Given the description of an element on the screen output the (x, y) to click on. 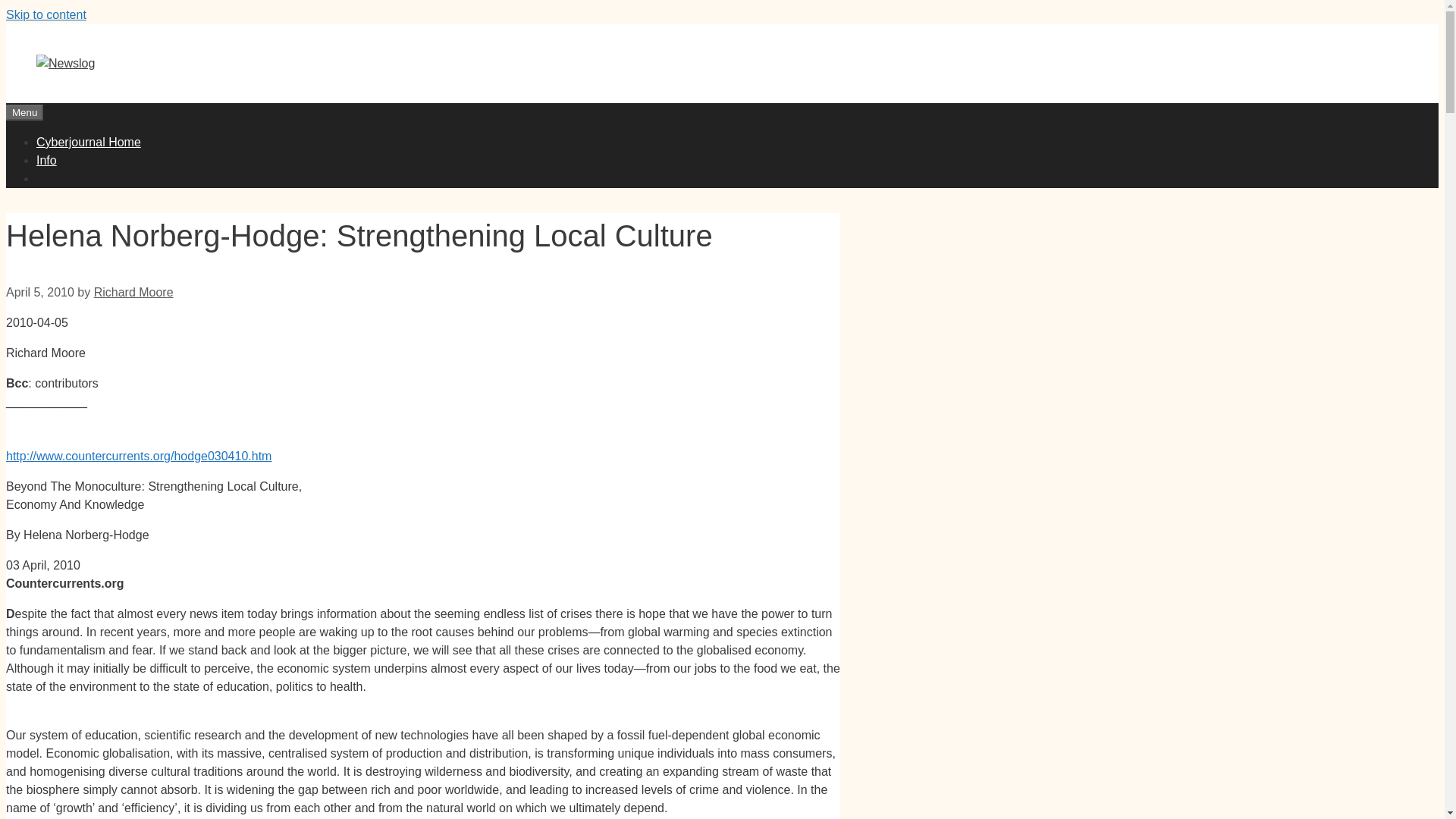
Cyberjournal Home (88, 141)
Skip to content (45, 14)
Richard Moore (133, 291)
Menu (24, 112)
Skip to content (45, 14)
Info (46, 160)
View all posts by Richard Moore (133, 291)
